Given the description of an element on the screen output the (x, y) to click on. 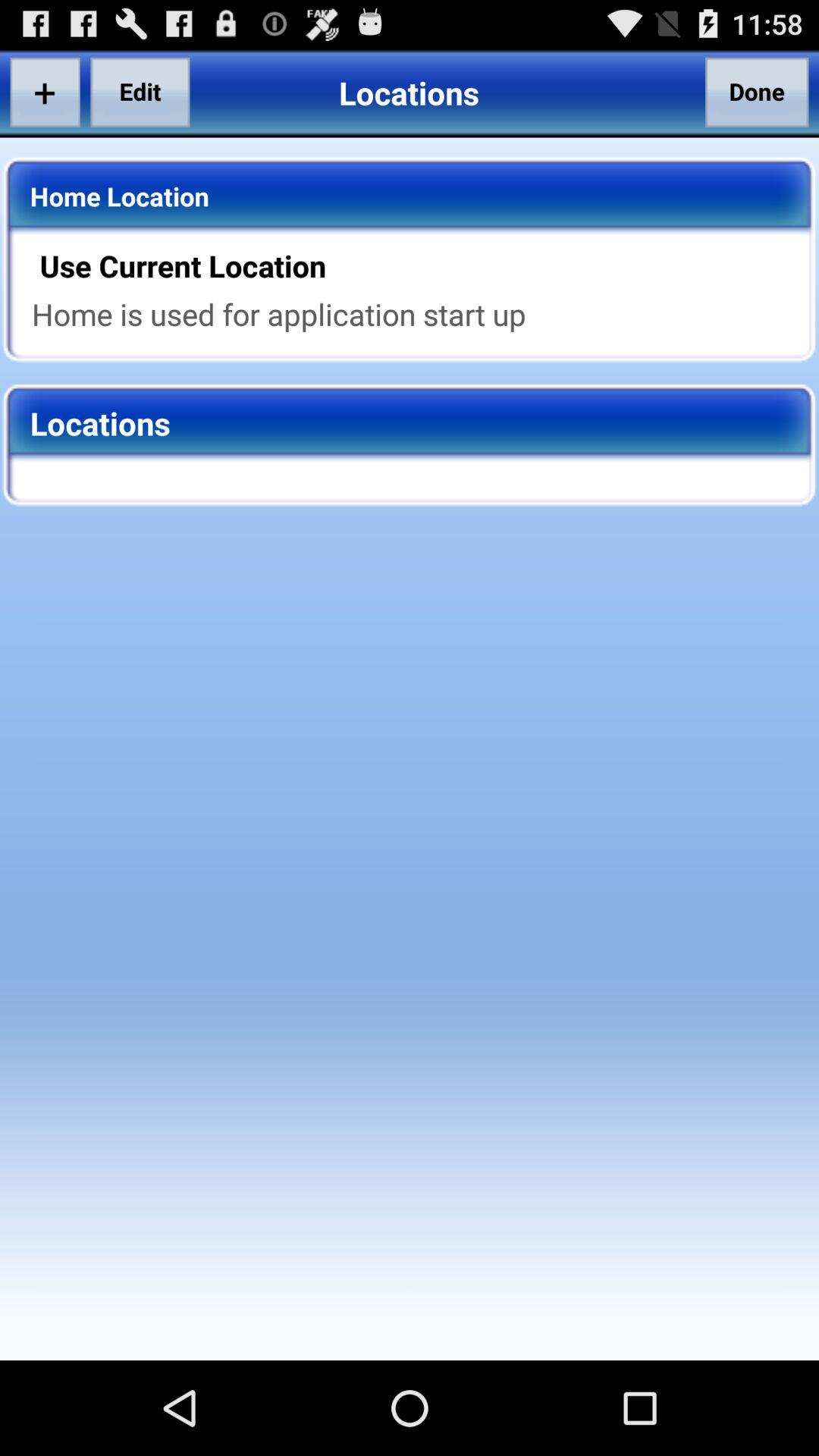
press item next to the edit item (45, 92)
